Given the description of an element on the screen output the (x, y) to click on. 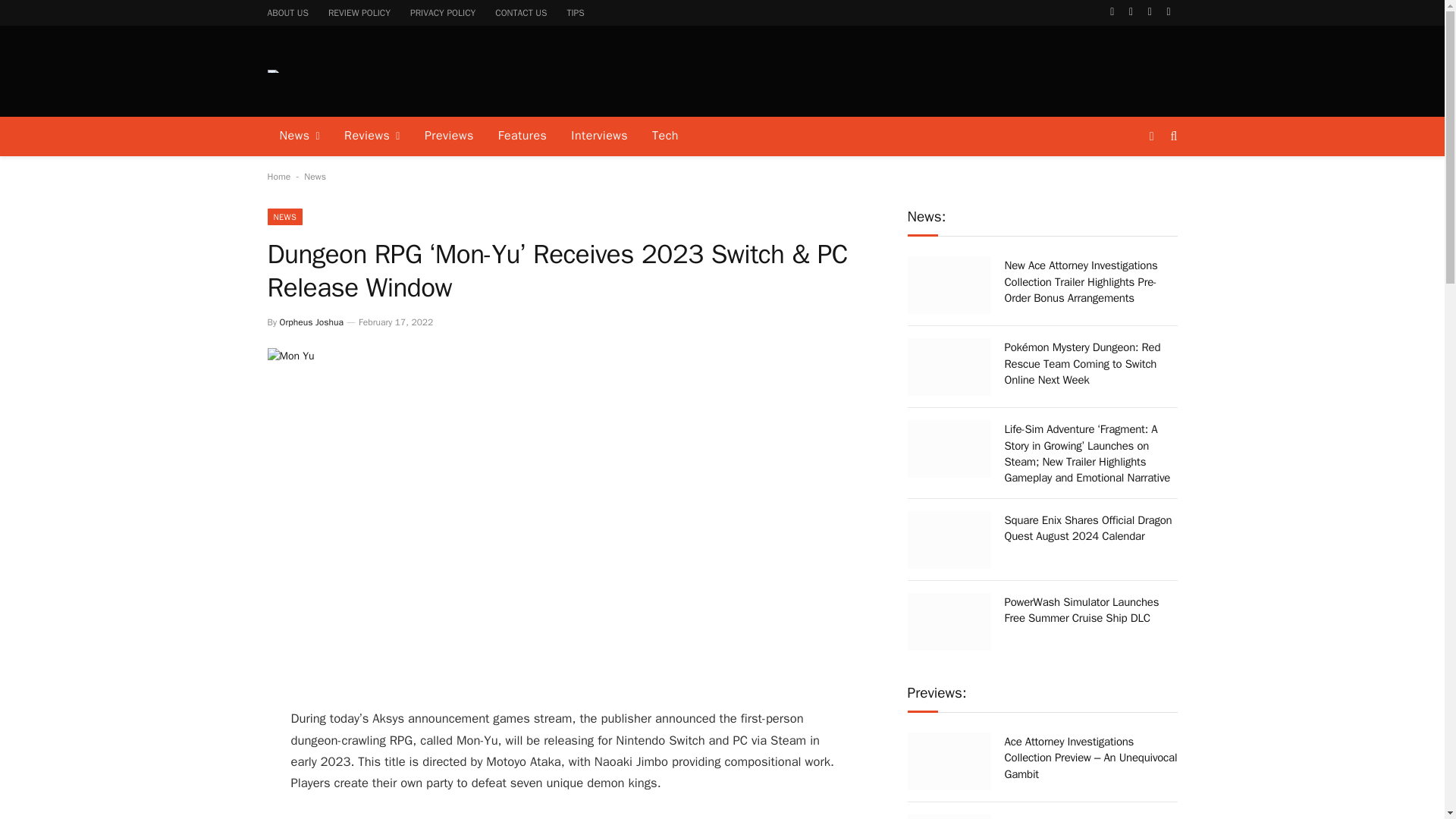
Tech (665, 136)
ABOUT US (287, 12)
Interviews (599, 136)
PRIVACY POLICY (442, 12)
Home (277, 176)
CONTACT US (520, 12)
Switch to Dark Design - easier on eyes. (1151, 136)
News (298, 136)
TIPS (575, 12)
Posts by Orpheus Joshua (311, 322)
Orpheus Joshua (311, 322)
Reviews (371, 136)
NEWS (284, 216)
News (315, 176)
REVIEW POLICY (359, 12)
